Given the description of an element on the screen output the (x, y) to click on. 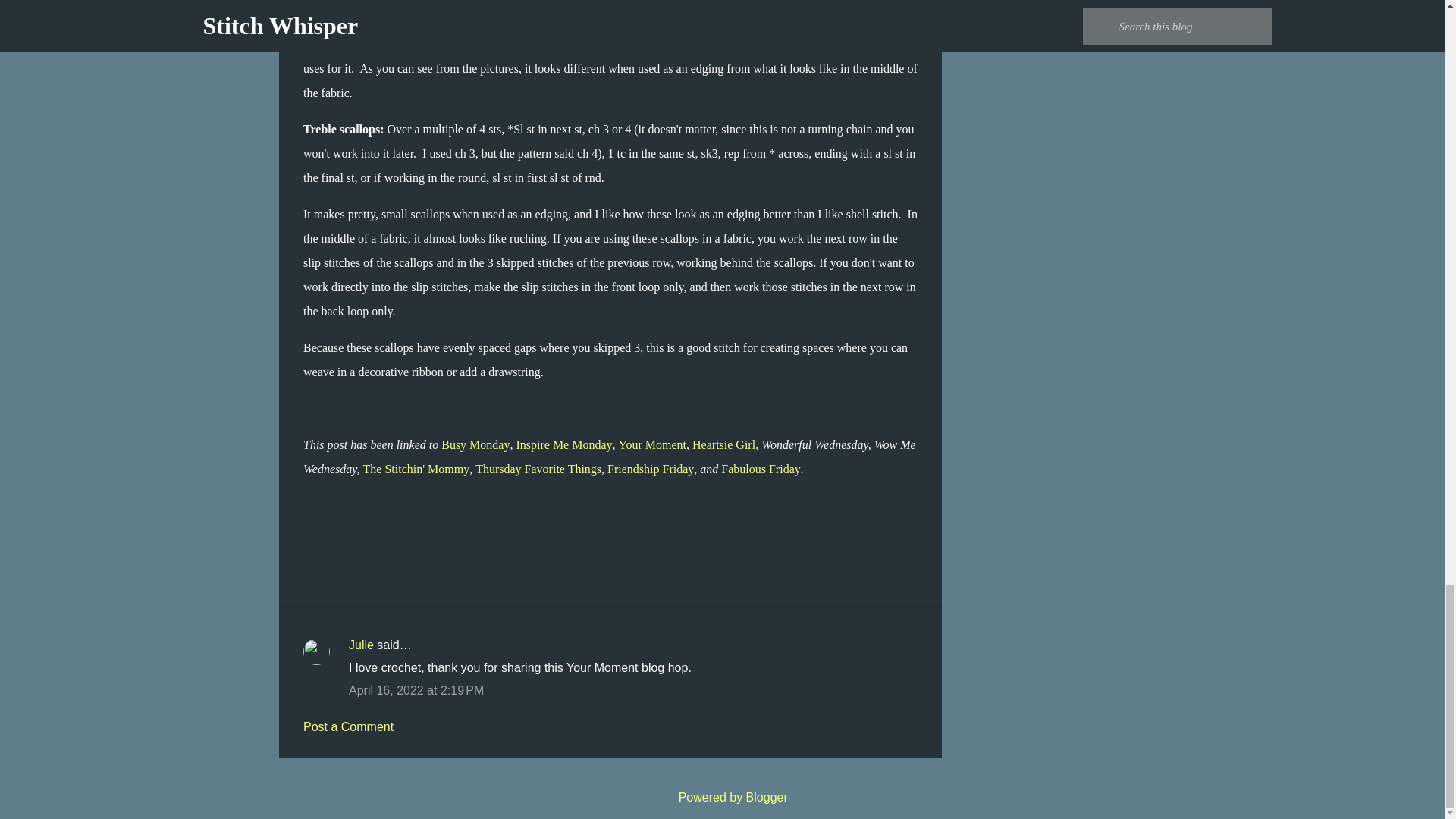
Inspire Me Monday (563, 444)
Thursday Favorite Things (538, 468)
Heartsie Girl (724, 444)
Friendship Friday (650, 468)
Post a Comment (347, 726)
The Stitchin' Mommy (416, 468)
Your Moment (652, 444)
Busy Monday (475, 444)
comment permalink (416, 689)
Fabulous Friday (759, 468)
